Given the description of an element on the screen output the (x, y) to click on. 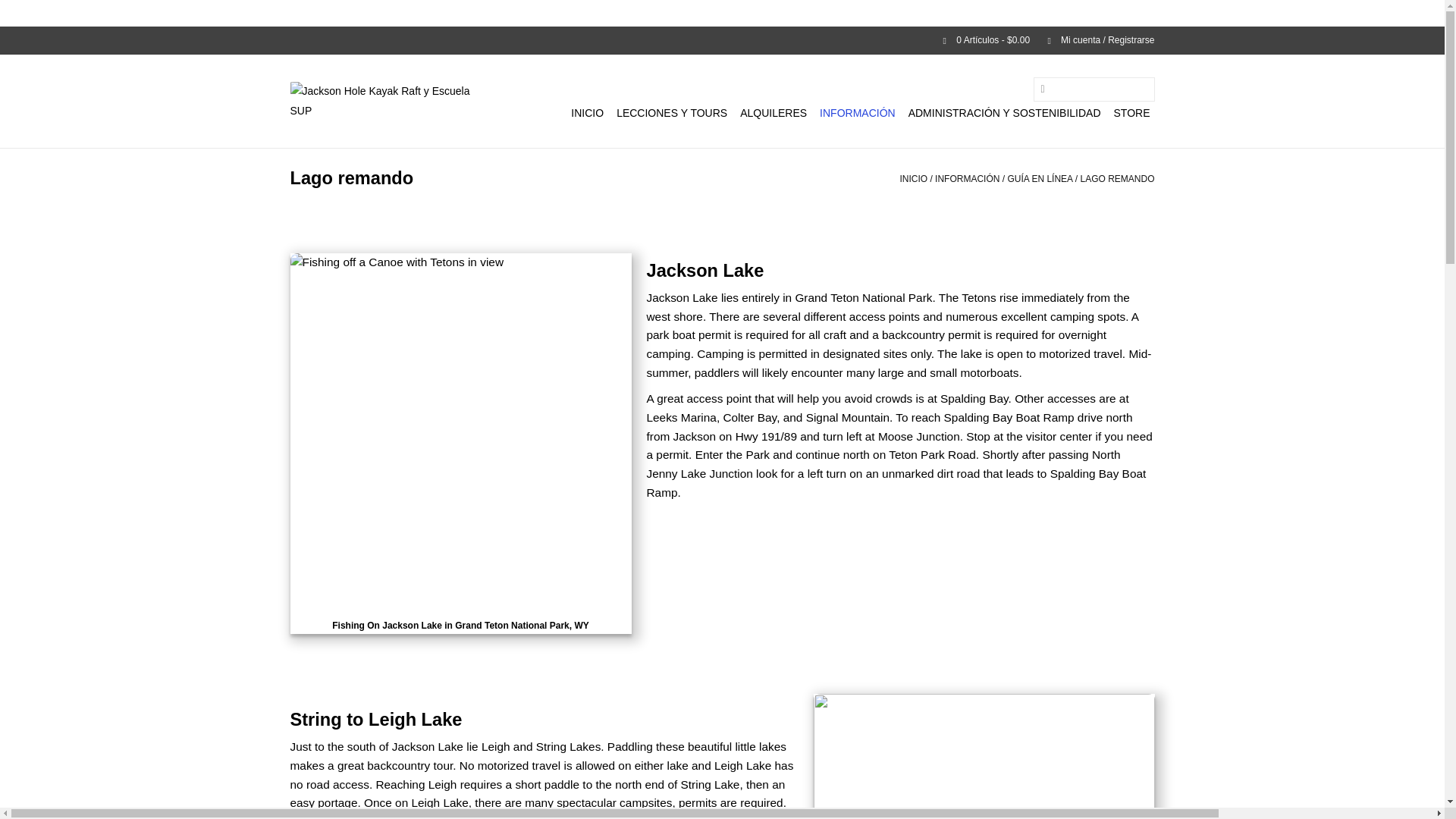
INICIO (587, 112)
Cesta (980, 40)
ALQUILERES (772, 112)
Jackson Hole Kayak Raft y Escuela SUP (385, 100)
LECCIONES Y TOURS (671, 112)
fr (314, 39)
en (295, 39)
Buscar (1041, 89)
es (334, 39)
English (295, 39)
Lecciones y Tours (671, 112)
Mi cuenta (1093, 40)
